Given the description of an element on the screen output the (x, y) to click on. 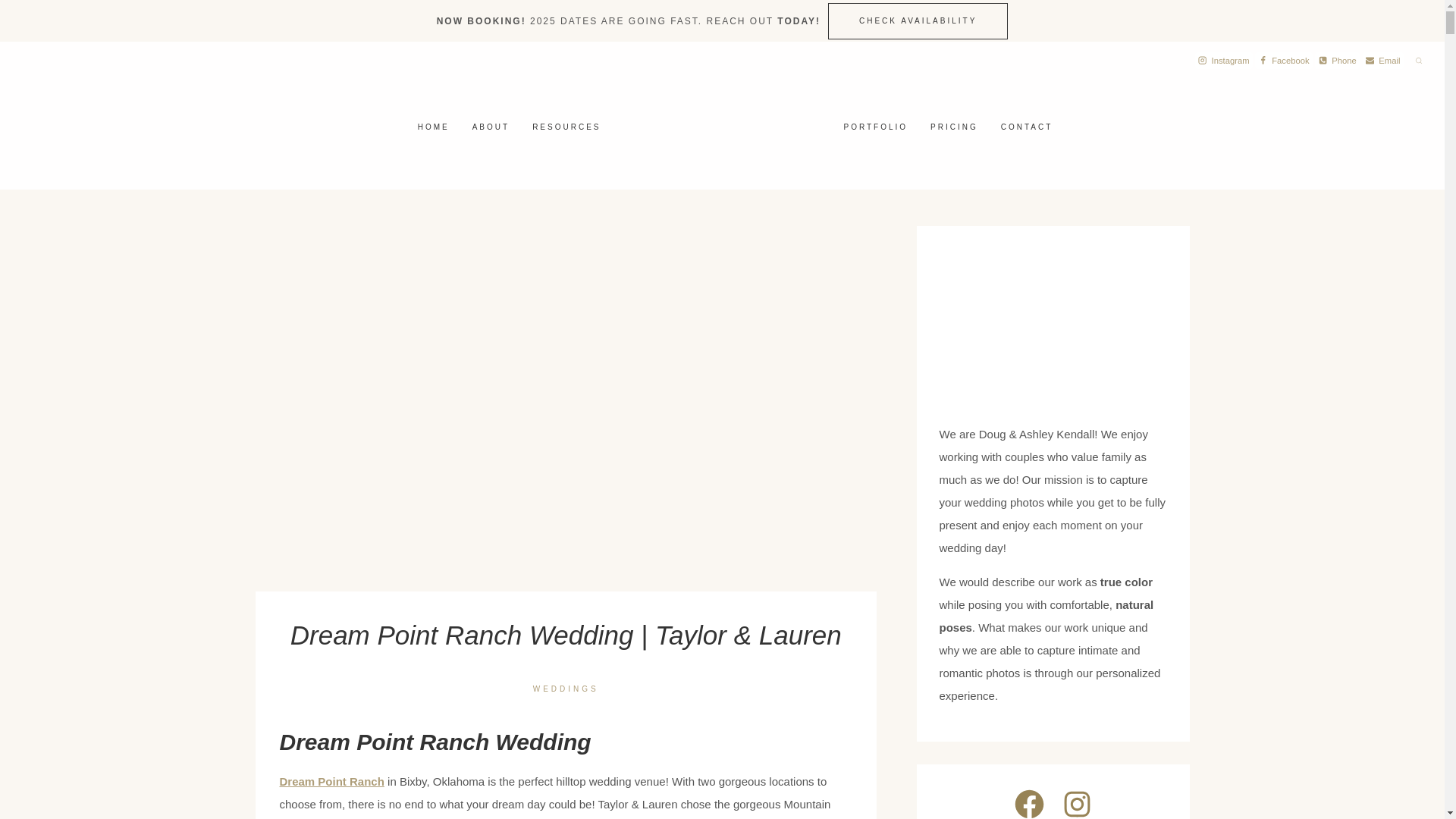
PORTFOLIO (876, 126)
PRICING (954, 126)
CHECK AVAILABILITY (917, 21)
Instagram (1223, 60)
Shift-click to edit this widget. (628, 20)
WEDDINGS (565, 688)
Email (1382, 60)
CONTACT (1027, 126)
ABOUT (491, 126)
Phone (1336, 60)
